Given the description of an element on the screen output the (x, y) to click on. 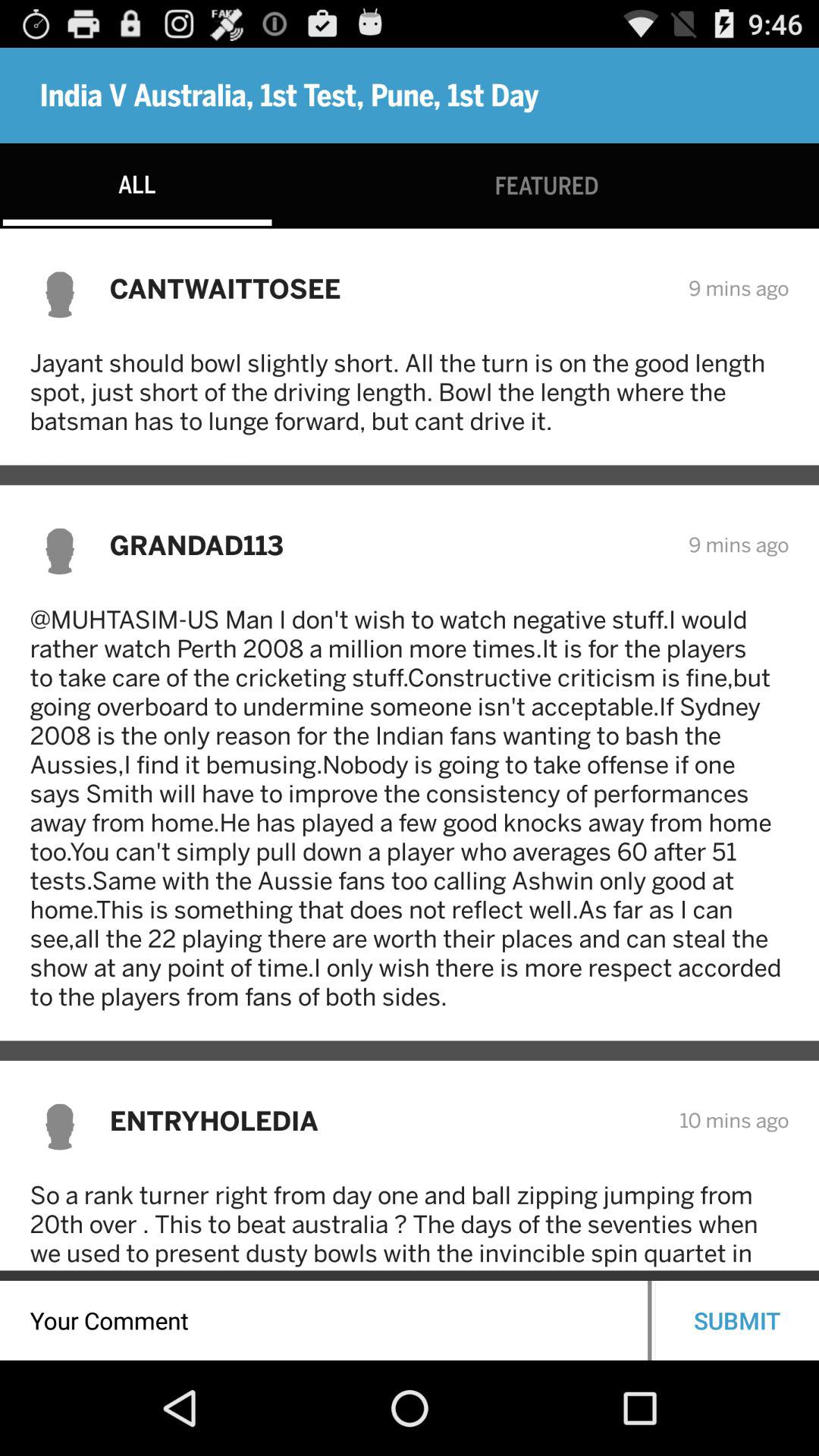
press muhtasim us man (409, 807)
